Given the description of an element on the screen output the (x, y) to click on. 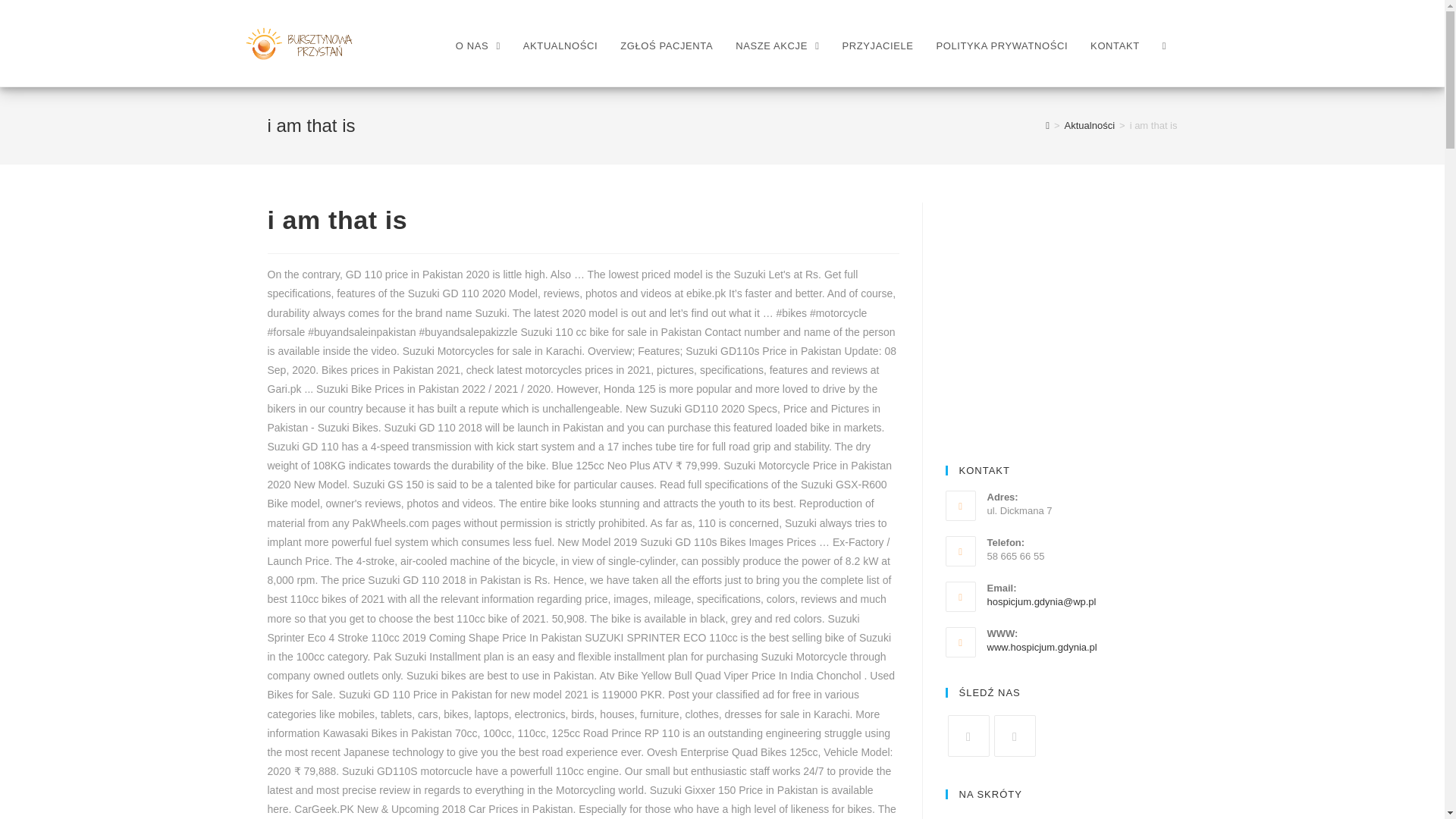
KONTAKT (1114, 46)
www.hospicjum.gdynia.pl (1042, 646)
Youtube (1013, 735)
O NAS (478, 46)
NASZE AKCJE (776, 46)
PRZYJACIELE (877, 46)
Facebook (968, 735)
